Given the description of an element on the screen output the (x, y) to click on. 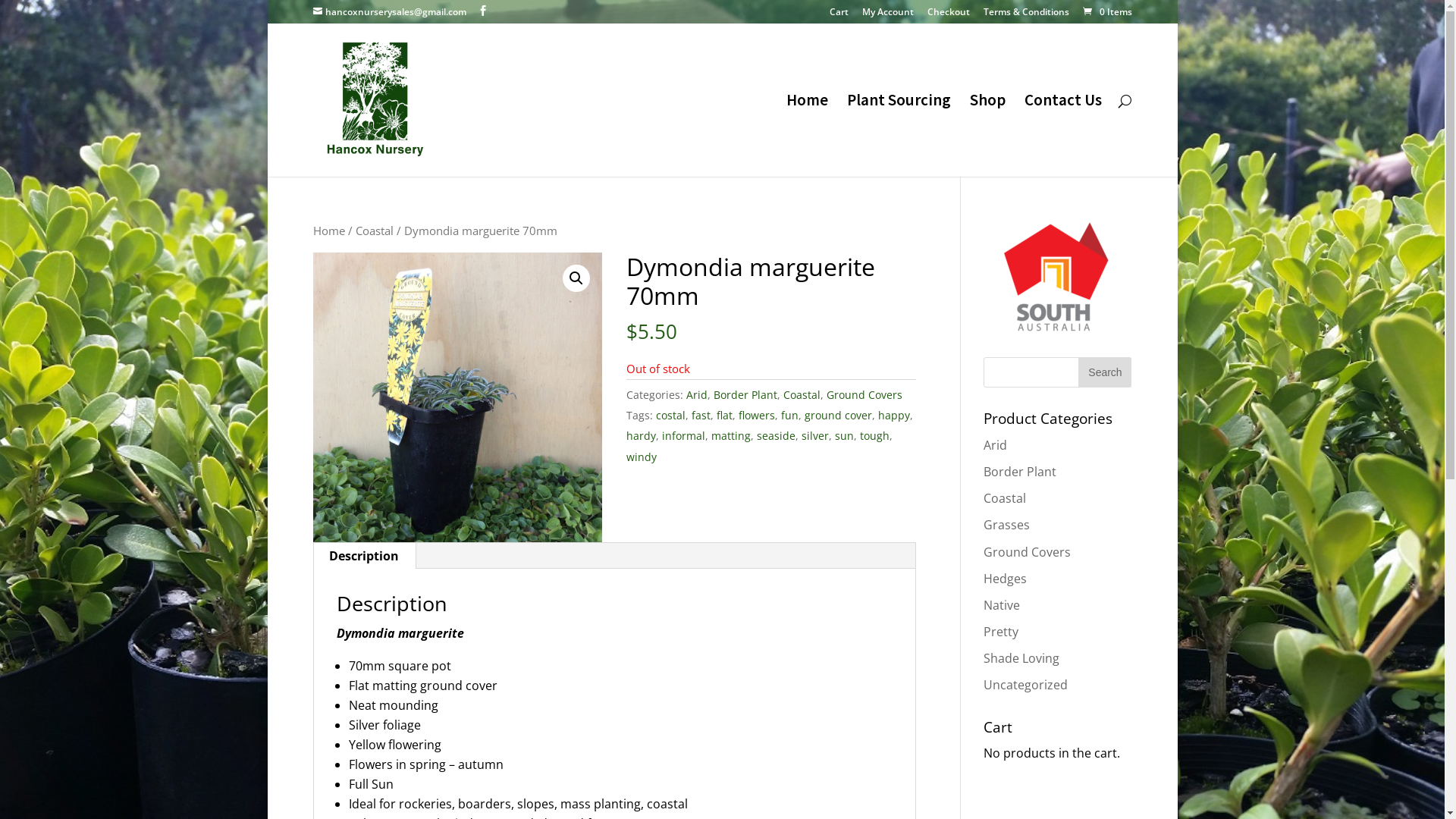
Shade Loving Element type: text (1021, 657)
hardy Element type: text (640, 435)
happy Element type: text (894, 414)
Home Element type: text (806, 135)
Checkout Element type: text (947, 15)
fast Element type: text (700, 414)
informal Element type: text (683, 435)
Hedges Element type: text (1004, 578)
Arid Element type: text (696, 394)
Border Plant Element type: text (745, 394)
hancoxnurserysales@gmail.com Element type: text (388, 11)
Shop Element type: text (986, 135)
Arid Element type: text (995, 444)
costal Element type: text (670, 414)
flowers Element type: text (756, 414)
seaside Element type: text (775, 435)
windy Element type: text (641, 456)
Home Element type: text (328, 230)
matting Element type: text (730, 435)
Plant Sourcing Element type: text (898, 135)
tough Element type: text (874, 435)
Native Element type: text (1001, 604)
Search Element type: text (1104, 372)
Ground Covers Element type: text (864, 394)
dymondia marguerite Element type: hover (457, 397)
fun Element type: text (789, 414)
Coastal Element type: text (1004, 497)
Border Plant Element type: text (1019, 471)
Grasses Element type: text (1006, 524)
ground cover Element type: text (838, 414)
Terms & Conditions Element type: text (1025, 15)
Pretty Element type: text (1000, 631)
silver Element type: text (814, 435)
Cart Element type: text (838, 15)
Description Element type: text (363, 555)
Coastal Element type: text (373, 230)
Ground Covers Element type: text (1026, 551)
Coastal Element type: text (801, 394)
My Account Element type: text (887, 15)
0 Items Element type: text (1105, 11)
Uncategorized Element type: text (1025, 684)
flat Element type: text (724, 414)
sun Element type: text (843, 435)
Contact Us Element type: text (1062, 135)
